Given the description of an element on the screen output the (x, y) to click on. 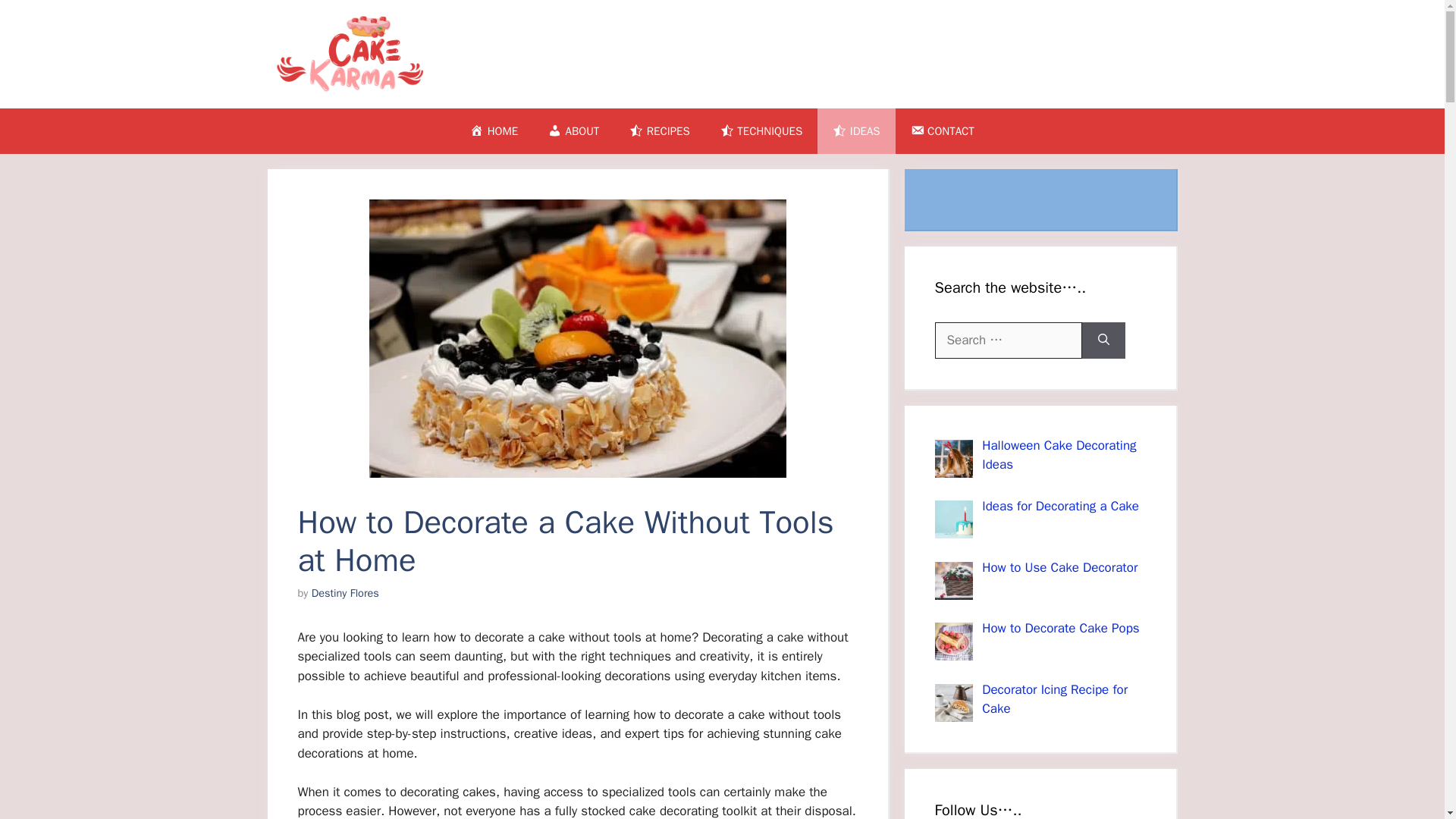
How to Decorate a Cake Without Tools at Home 1 (577, 338)
Destiny Flores (344, 592)
TECHNIQUES (761, 130)
RECIPES (659, 130)
IDEAS (855, 130)
CONTACT (942, 130)
View all posts by Destiny Flores (344, 592)
HOME (493, 130)
ABOUT (573, 130)
